Given the description of an element on the screen output the (x, y) to click on. 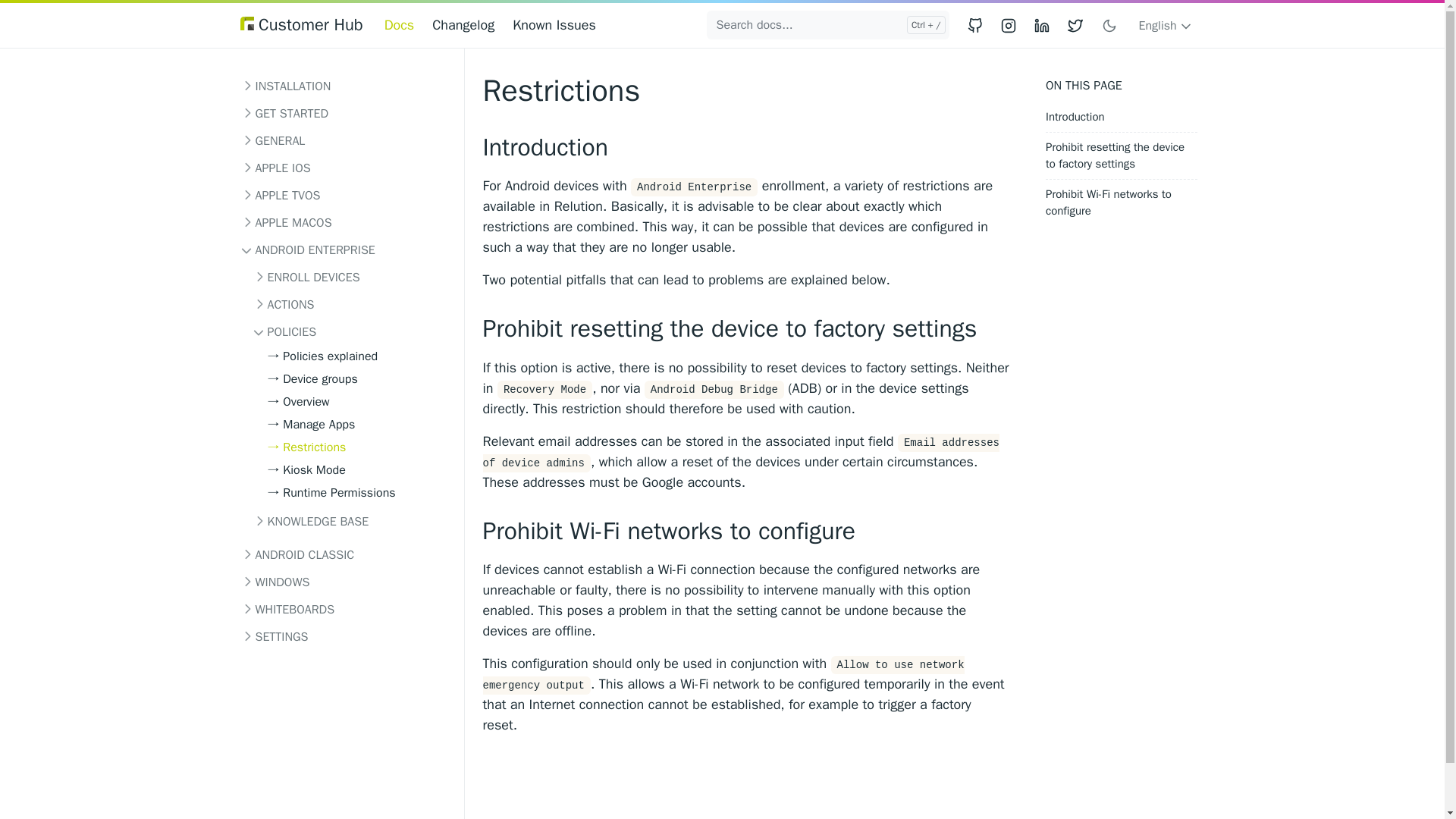
Customer Hub (301, 25)
